Given the description of an element on the screen output the (x, y) to click on. 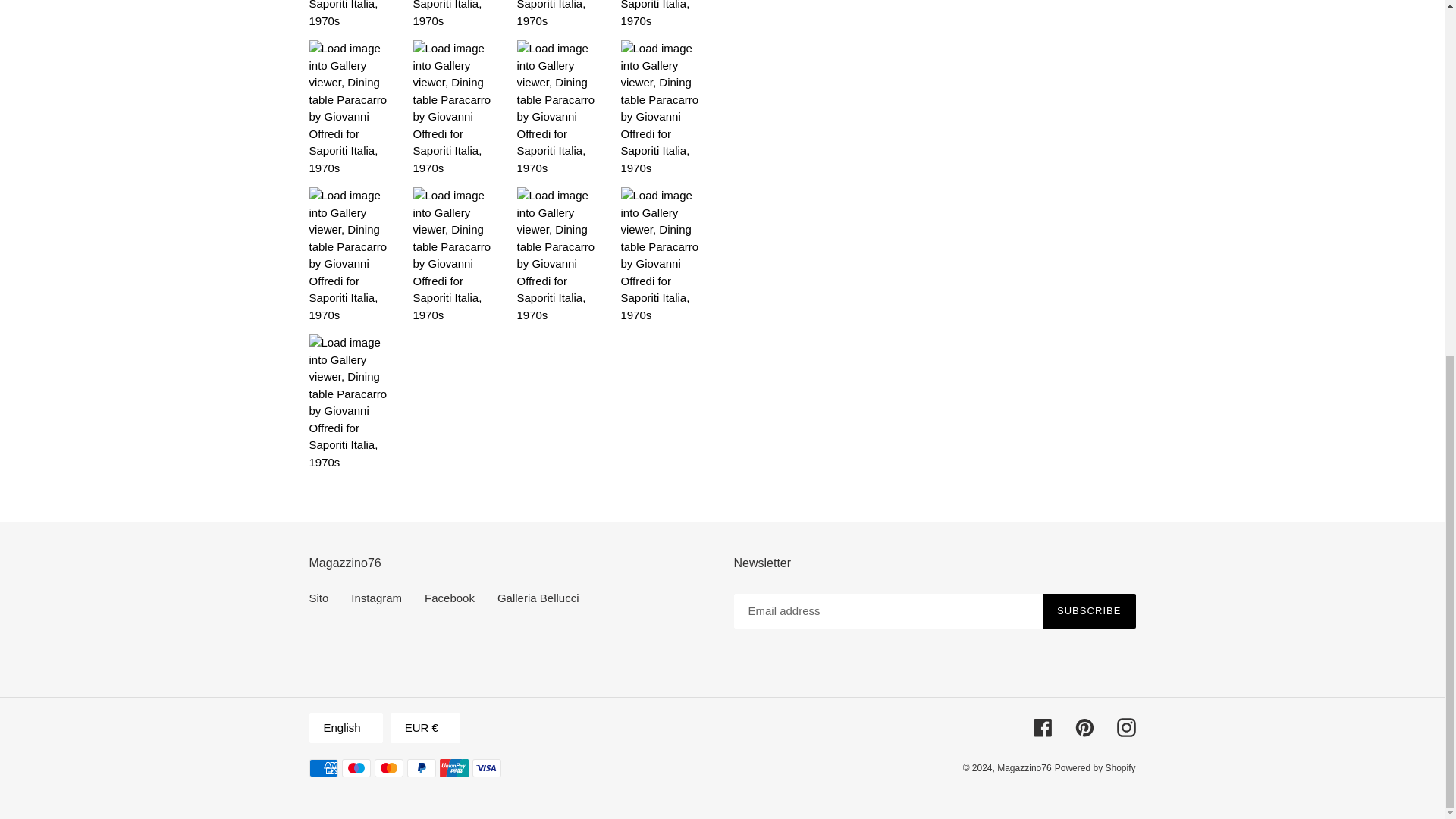
Sito (318, 597)
SUBSCRIBE (1088, 610)
Facebook (449, 597)
Instagram (375, 597)
Galleria Bellucci (538, 597)
